Given the description of an element on the screen output the (x, y) to click on. 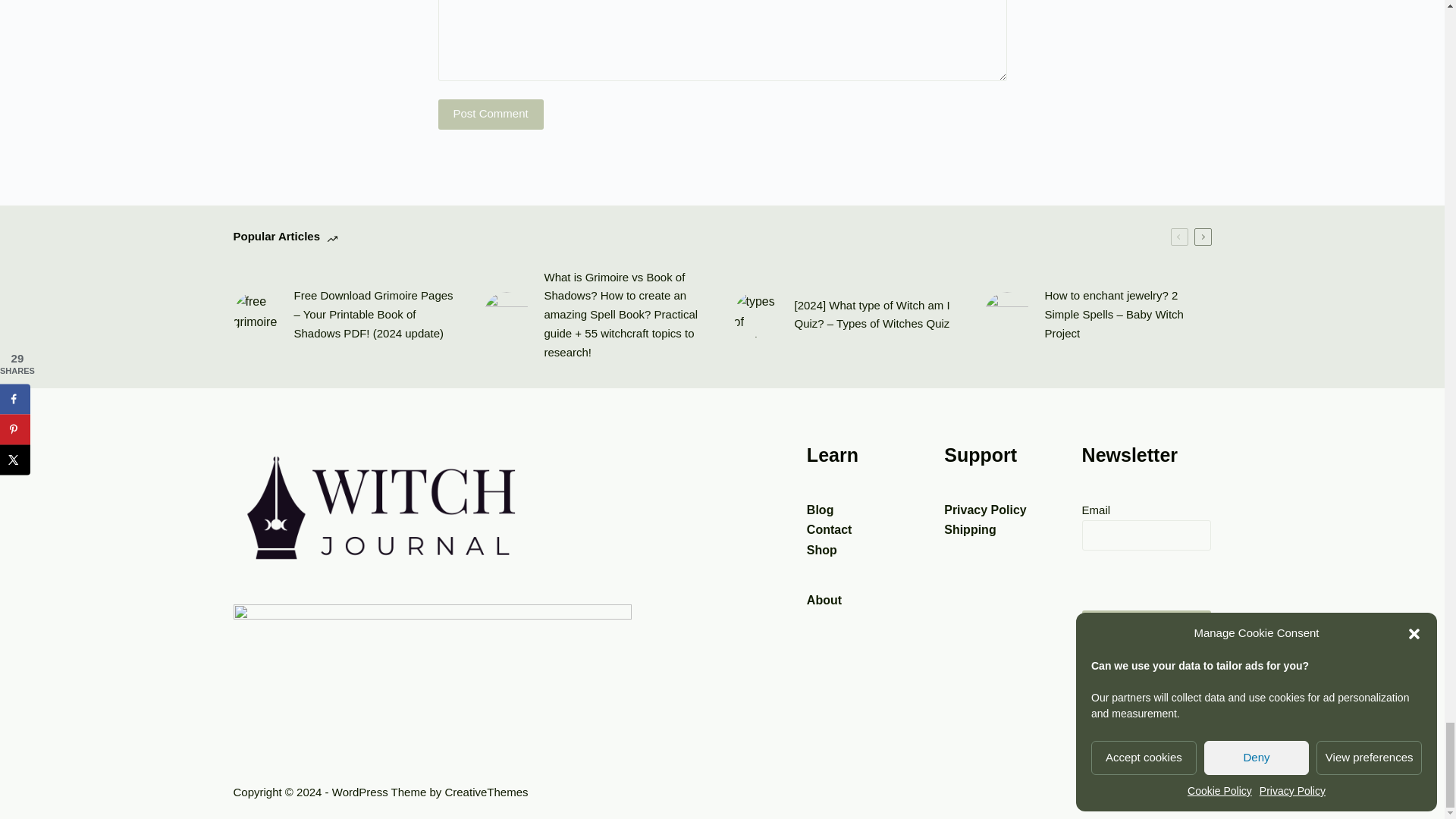
Subscribe to the list (1146, 625)
